Given the description of an element on the screen output the (x, y) to click on. 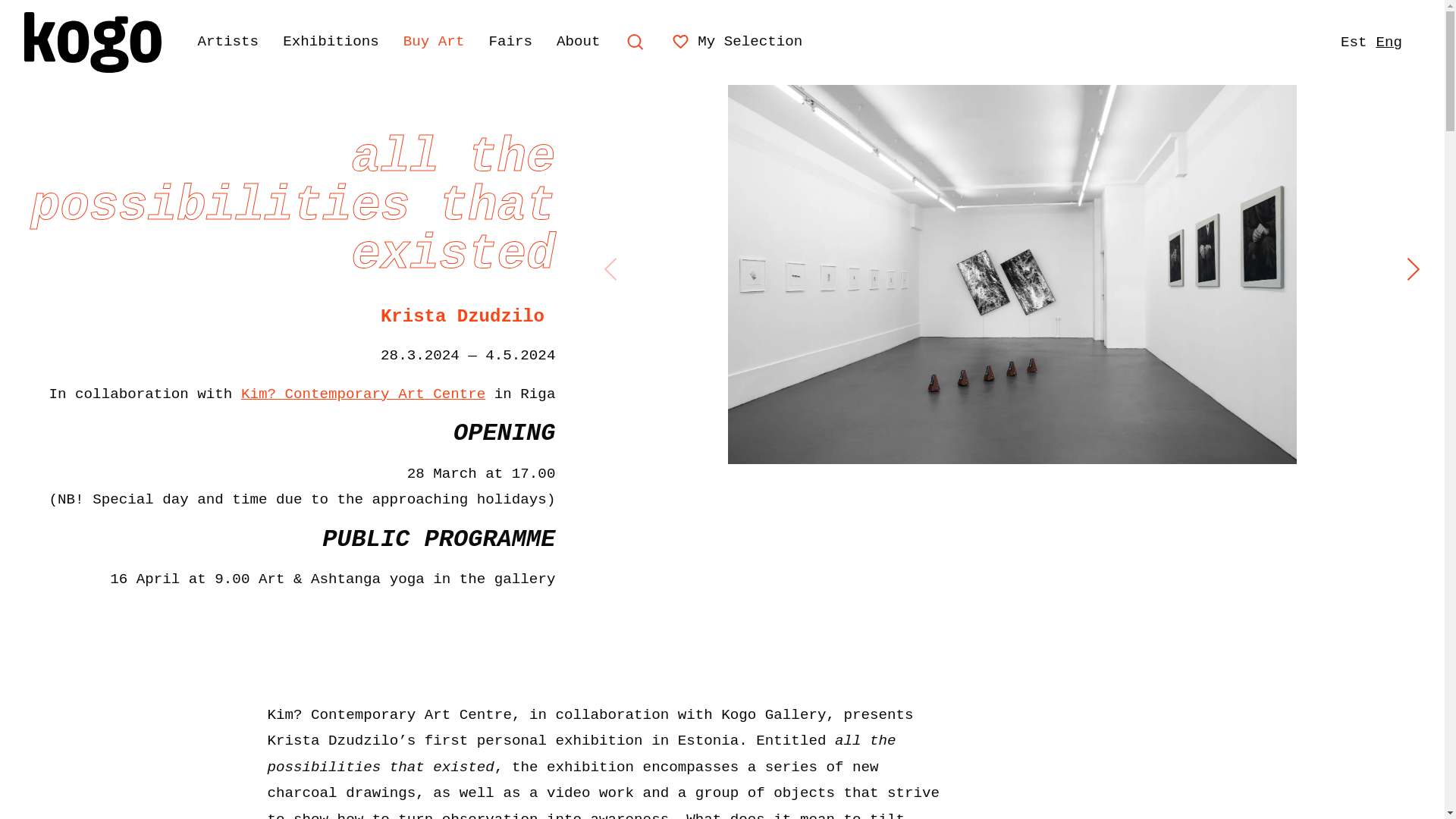
Artists (228, 42)
About (578, 42)
Kim? Contemporary Art Centre (362, 393)
Krista Dzudzilo (462, 316)
Fairs (510, 42)
Exhibitions (330, 42)
Buy Art (434, 42)
My Selection (736, 41)
